Given the description of an element on the screen output the (x, y) to click on. 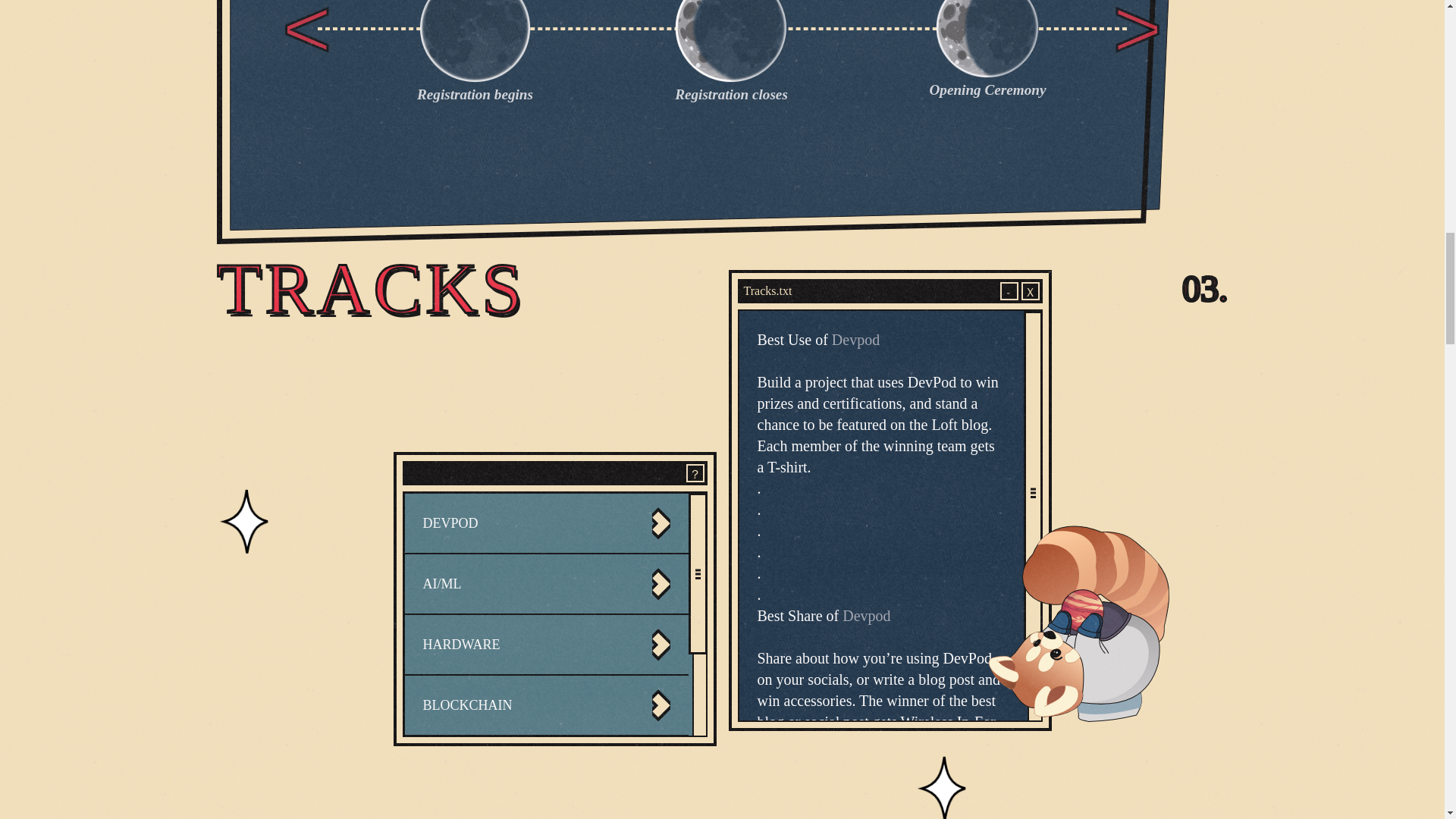
HARDWARE (545, 644)
Devpod (866, 615)
OPEN INNOVATION (545, 807)
SUSTAINABILITY (545, 765)
DEVPOD (545, 523)
BLOCKCHAIN (545, 704)
Devpod (855, 339)
